Given the description of an element on the screen output the (x, y) to click on. 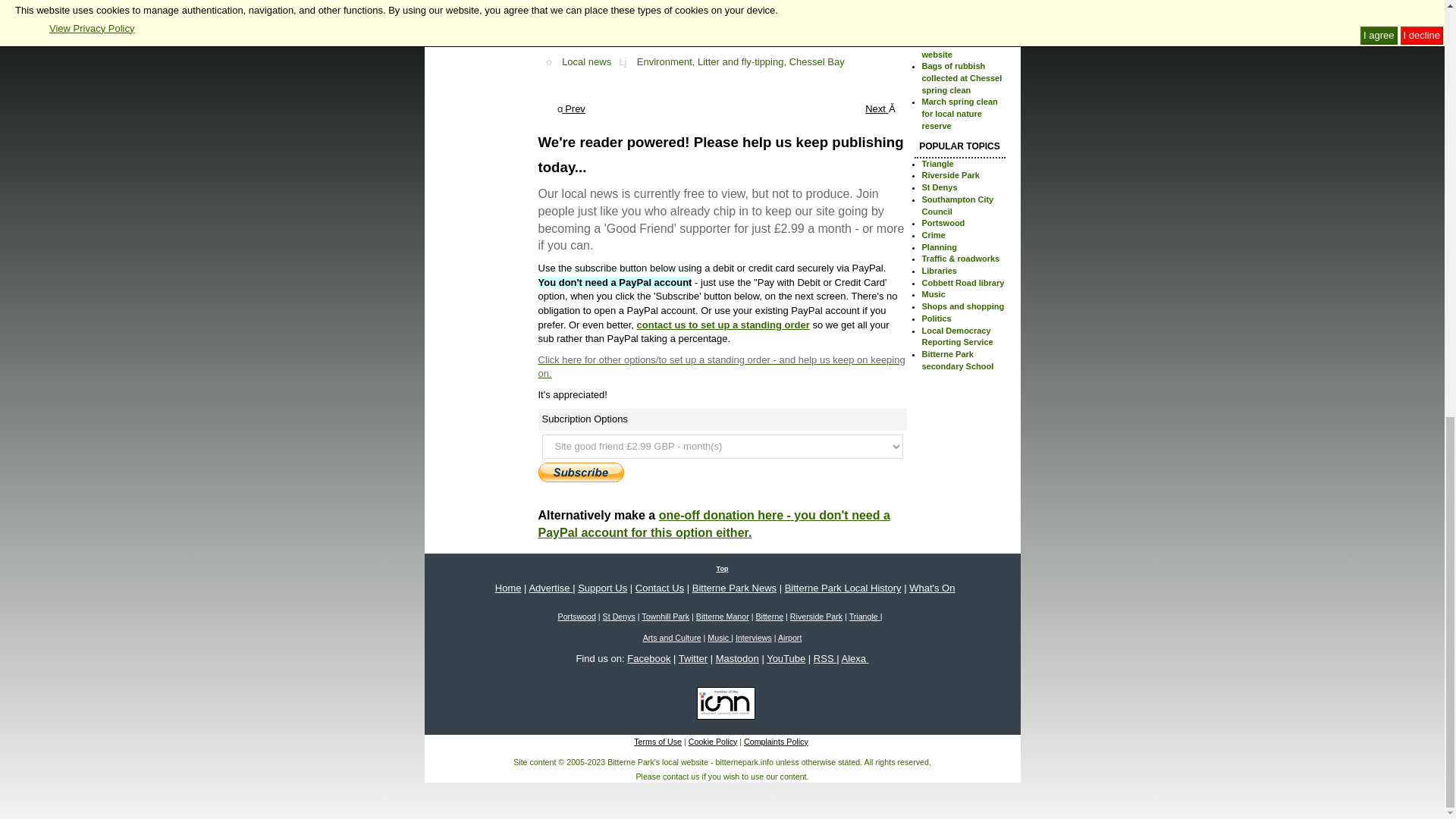
PayPal - The safer, easier way to pay online! (581, 472)
JComments (887, 41)
